Given the description of an element on the screen output the (x, y) to click on. 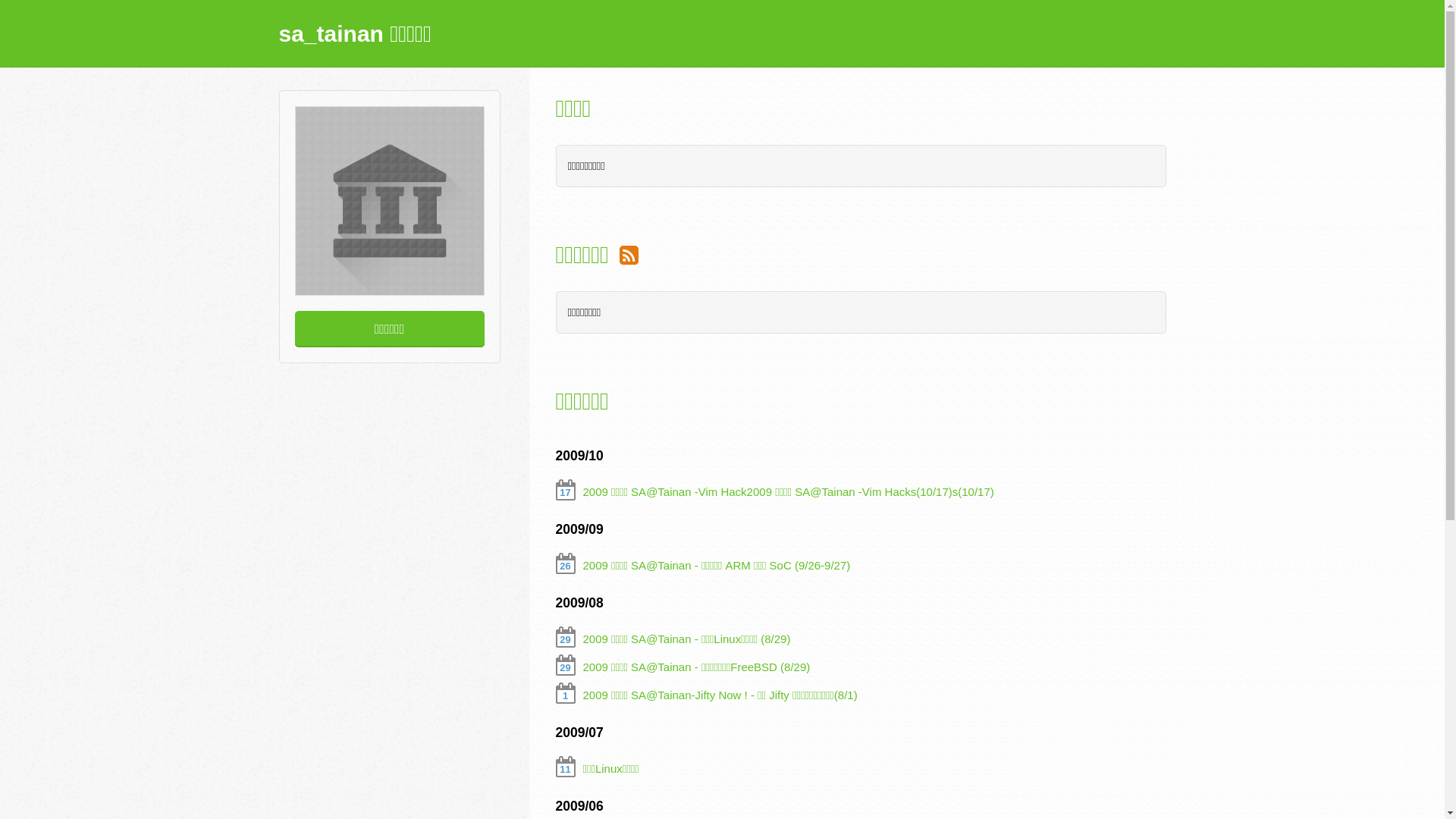
Organization Events RSS Element type: hover (628, 254)
